Given the description of an element on the screen output the (x, y) to click on. 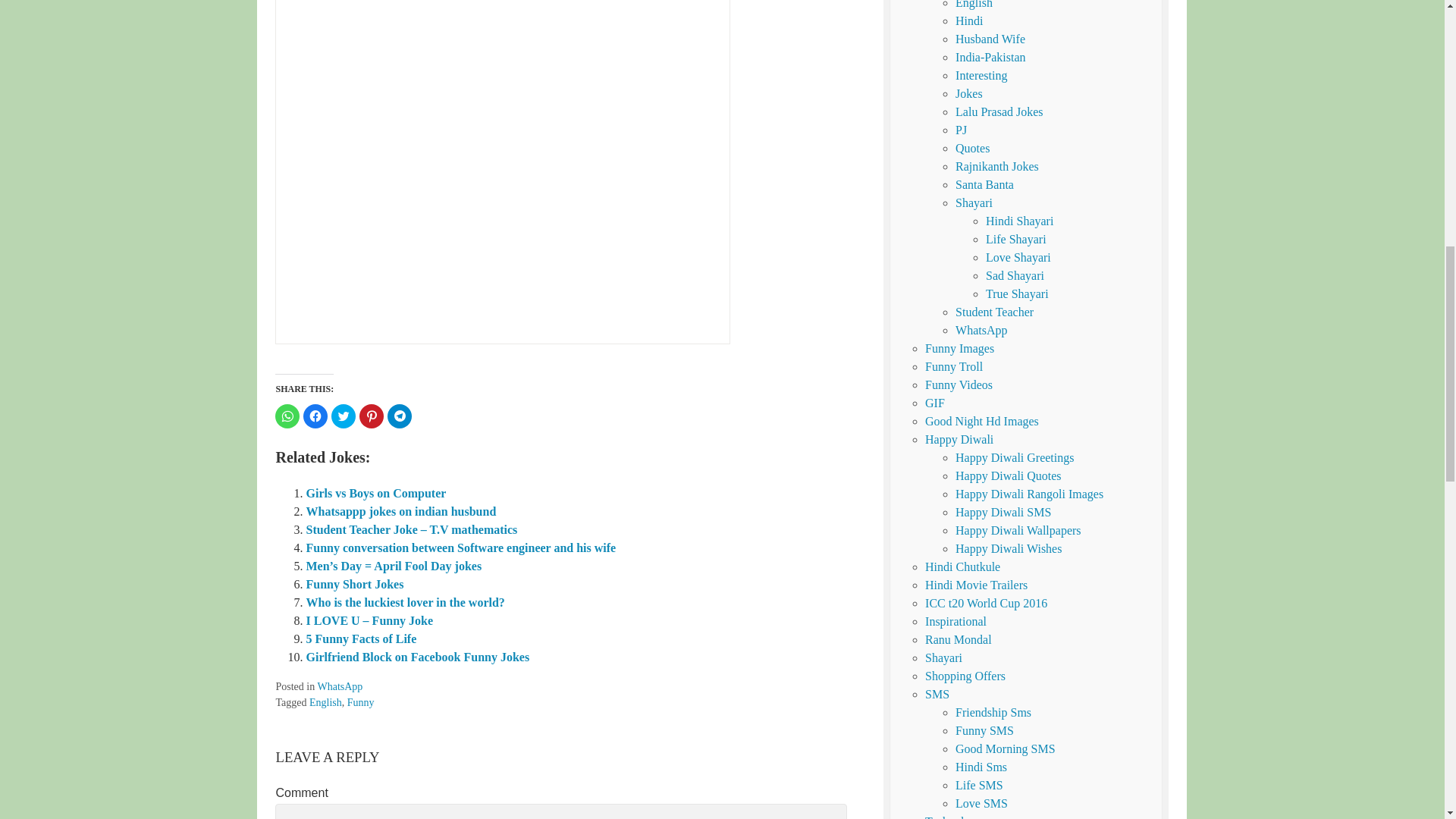
Funny conversation between Software engineer and his wife (460, 547)
Funny conversation between Software engineer and his wife (460, 547)
Girlfriend Block on Facebook Funny Jokes (417, 656)
Who is the luckiest lover in the world? (404, 602)
Click to share on WhatsApp (287, 416)
Funny Short Jokes (354, 584)
Funny Short Jokes (354, 584)
WhatsApp (339, 686)
Click to share on Twitter (343, 416)
Funny (360, 702)
